Given the description of an element on the screen output the (x, y) to click on. 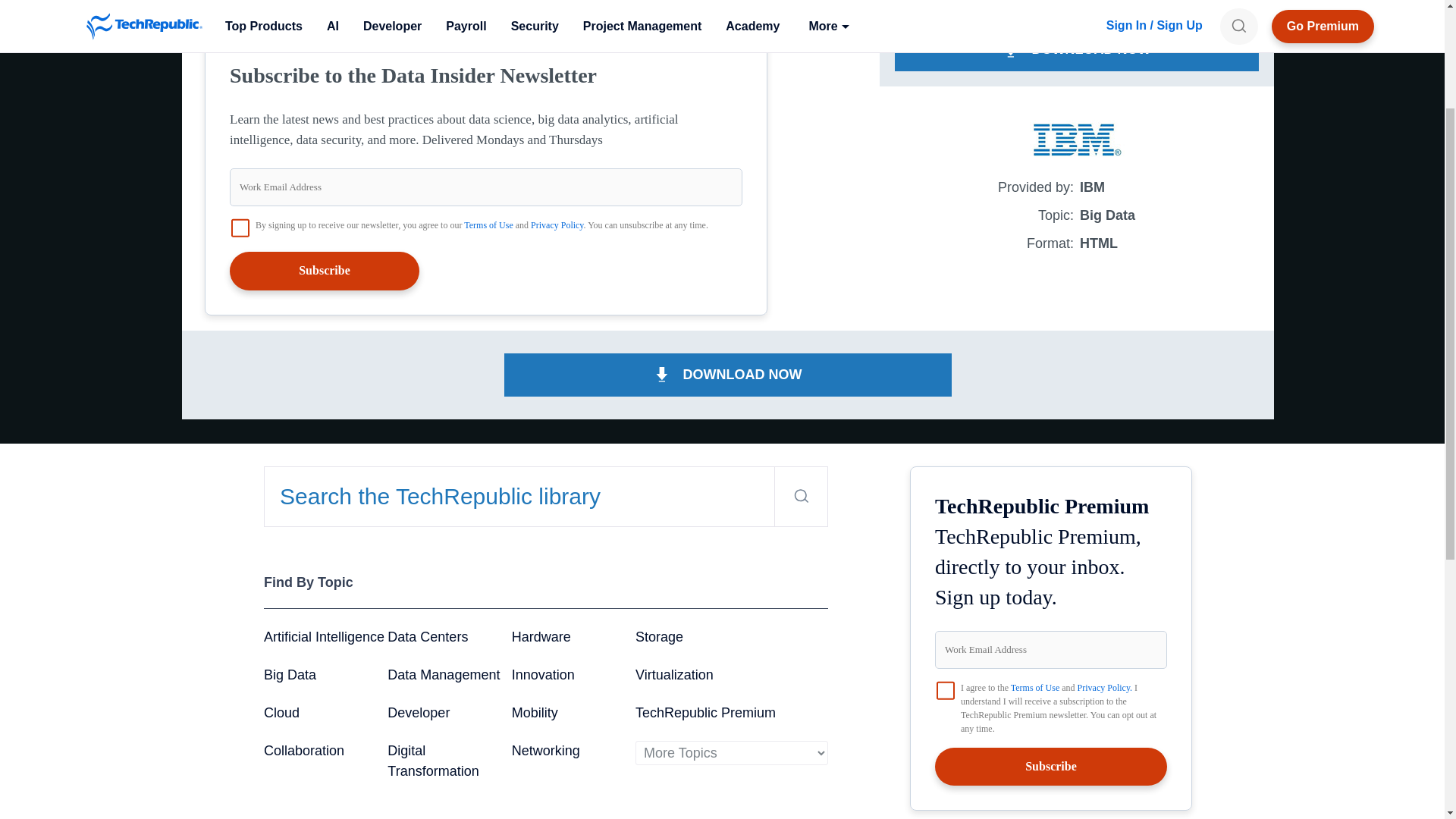
on (239, 228)
on (945, 690)
Privacy Policy (557, 225)
Subscribe (324, 270)
DOWNLOAD NOW (1077, 49)
Terms of Use (488, 225)
